Given the description of an element on the screen output the (x, y) to click on. 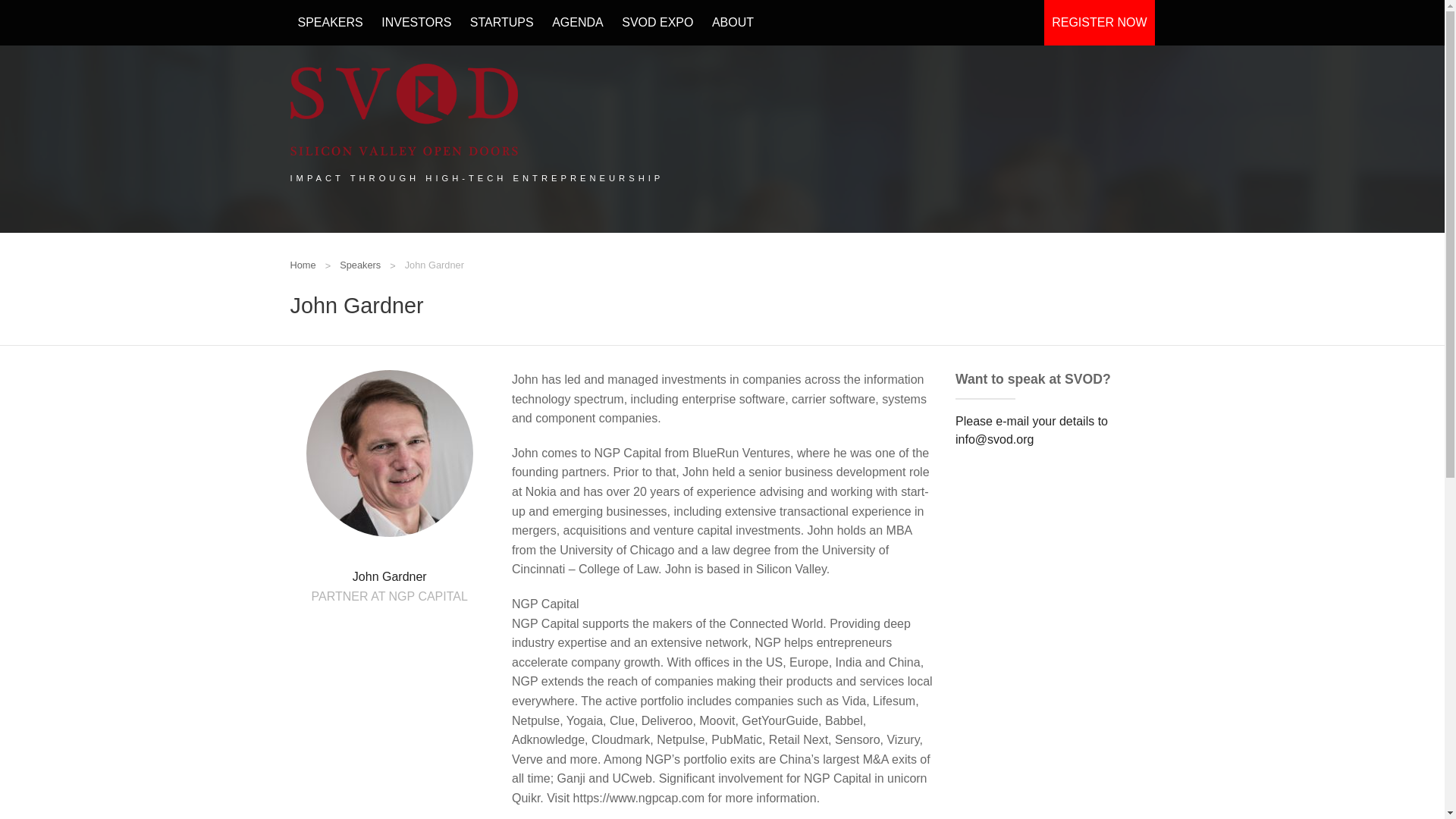
ABOUT (732, 22)
SVOD EXPO (657, 22)
register (1098, 22)
STARTUPS (502, 22)
SPEAKERS (329, 22)
Home (302, 265)
REGISTER NOW (1098, 22)
AGENDA (577, 22)
PARTNER AT NGP CAPITAL (389, 595)
INVESTORS (416, 22)
